Given the description of an element on the screen output the (x, y) to click on. 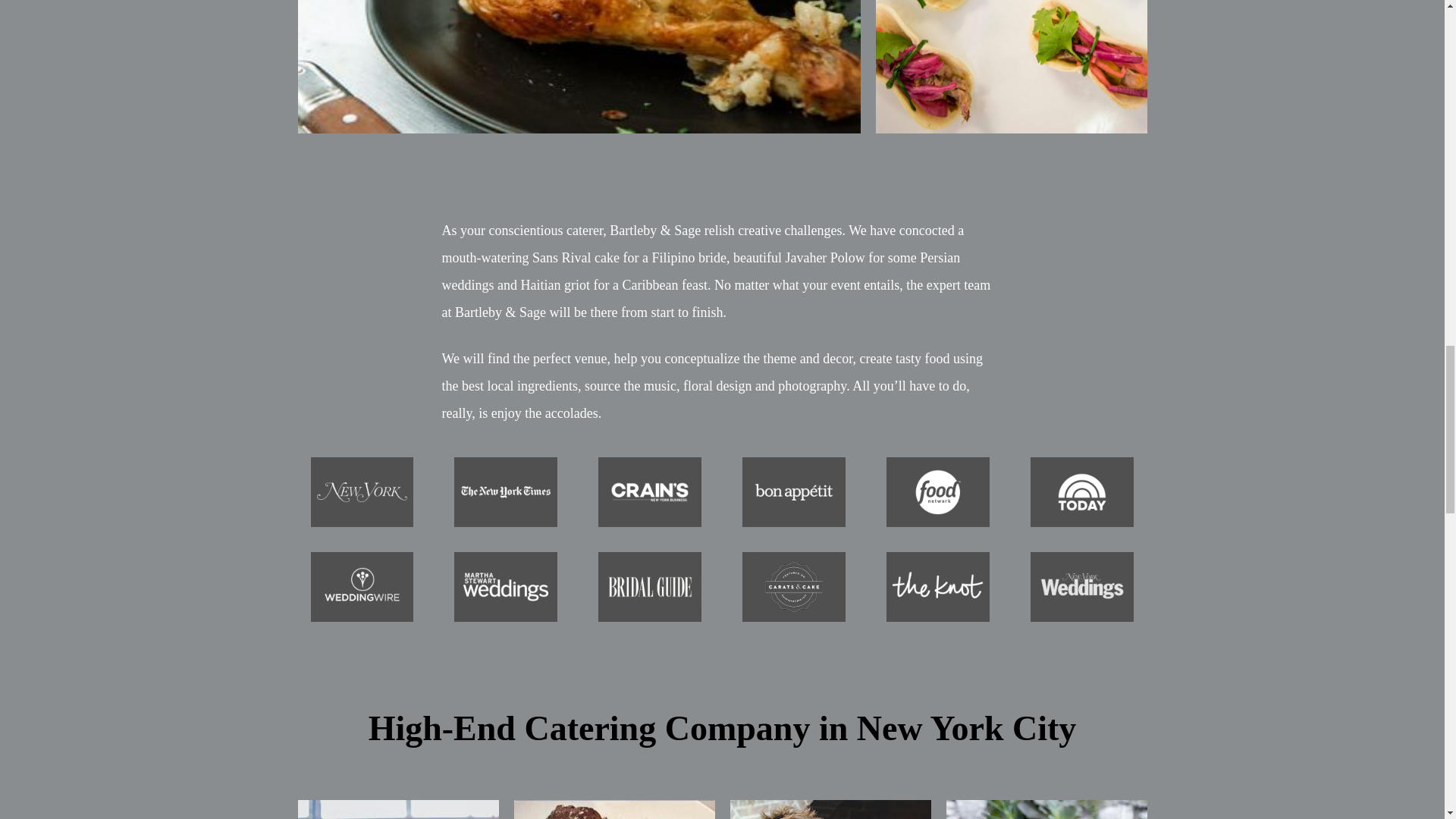
TASTE (613, 809)
PLAN (1046, 809)
SERVE (829, 809)
SIP (397, 809)
